Given the description of an element on the screen output the (x, y) to click on. 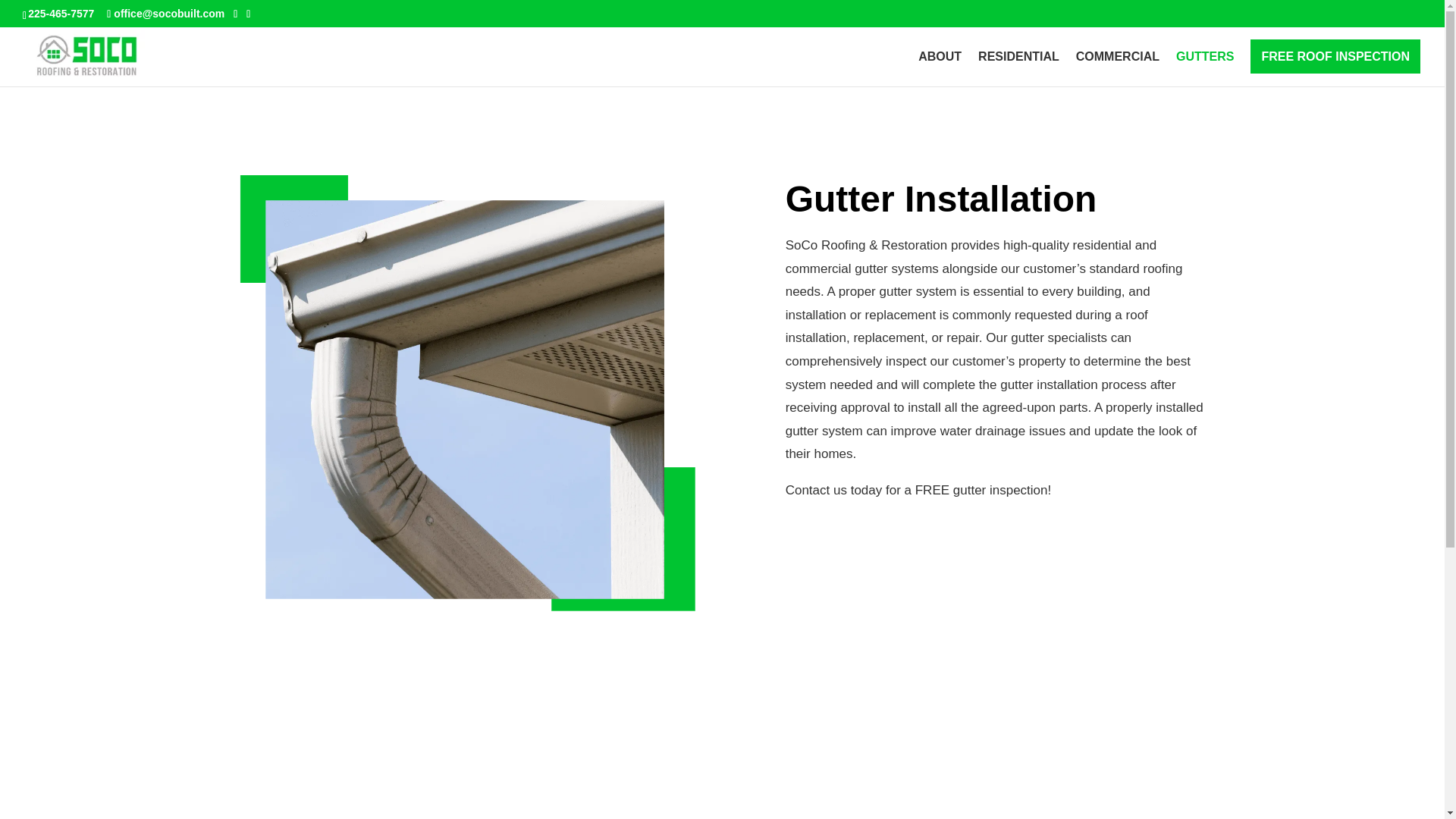
RESIDENTIAL (1018, 68)
ABOUT (939, 68)
GUTTERS (1204, 68)
FREE ROOF INSPECTION (1335, 68)
225-465-7577 (60, 13)
COMMERCIAL (1116, 68)
